Given the description of an element on the screen output the (x, y) to click on. 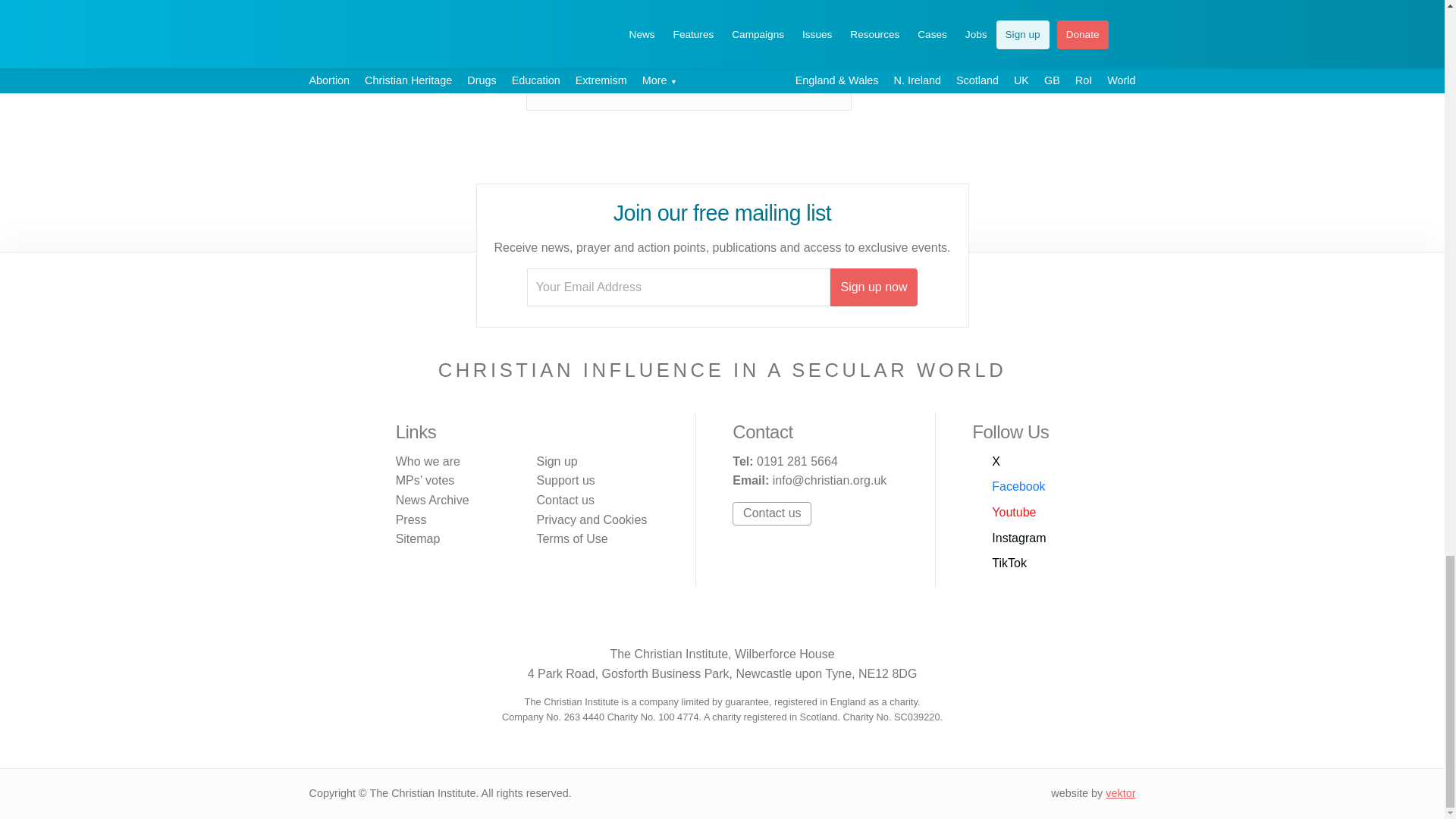
Visit our Facebook page (1008, 486)
Visit our YouTube channel (705, 621)
Visit our Twitter page (986, 461)
Visit our Twitter page (641, 621)
Visit our Instagram page (737, 621)
Visit our TikTok feed (769, 621)
Visit our YouTube channel (1003, 512)
Visit our Instagram page (1008, 537)
View our RSS News feeds (802, 621)
Visit our Facebook page (673, 621)
